Given the description of an element on the screen output the (x, y) to click on. 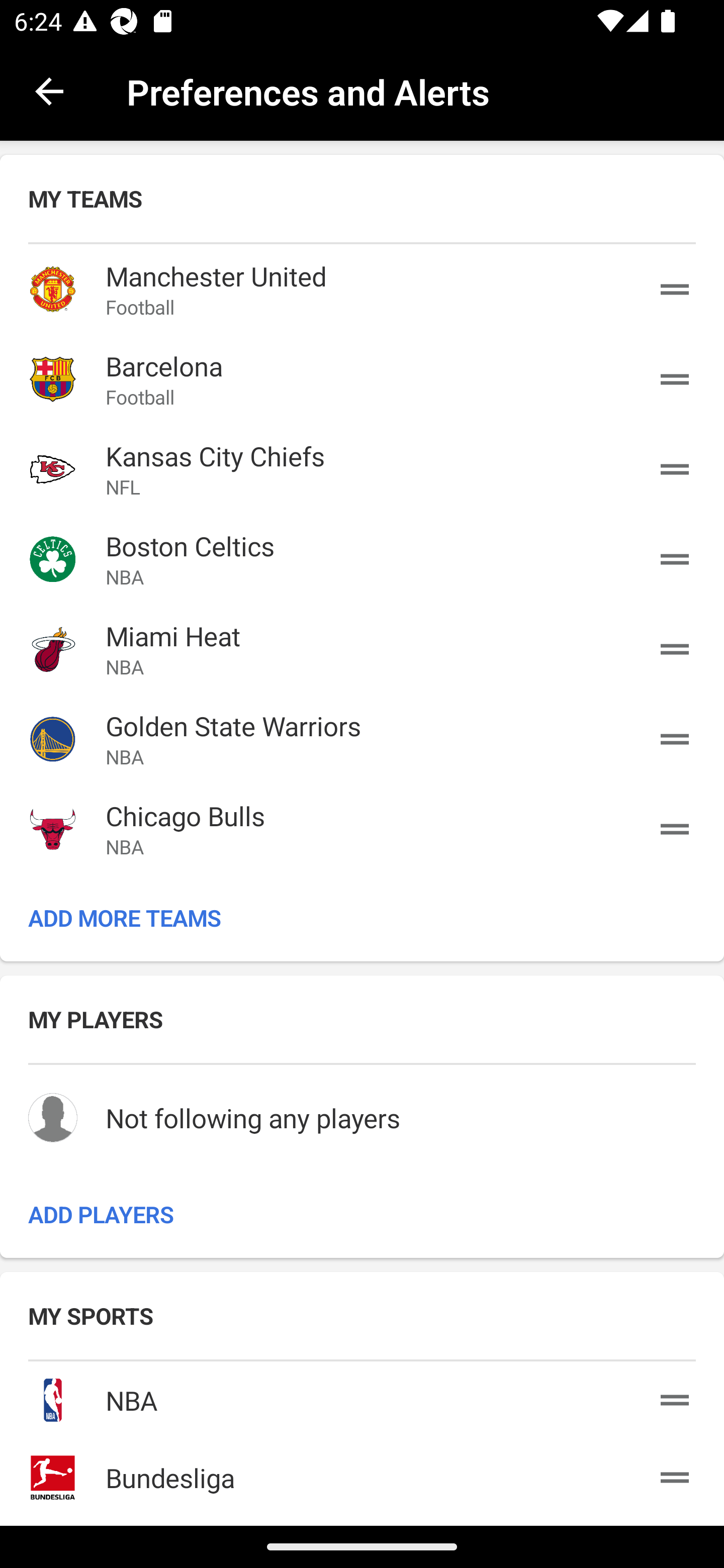
back.button (49, 90)
Barcelona Barcelona Barcelona Football Football (362, 378)
Miami Heat Miami Heat Miami Heat NBA NBA (362, 648)
Chicago Bulls Chicago Bulls Chicago Bulls NBA NBA (362, 828)
ADD MORE TEAMS (362, 917)
ADD PLAYERS (362, 1213)
NBA NBA NBA (362, 1395)
Bundesliga Bundesliga Bundesliga (362, 1473)
